Given the description of an element on the screen output the (x, y) to click on. 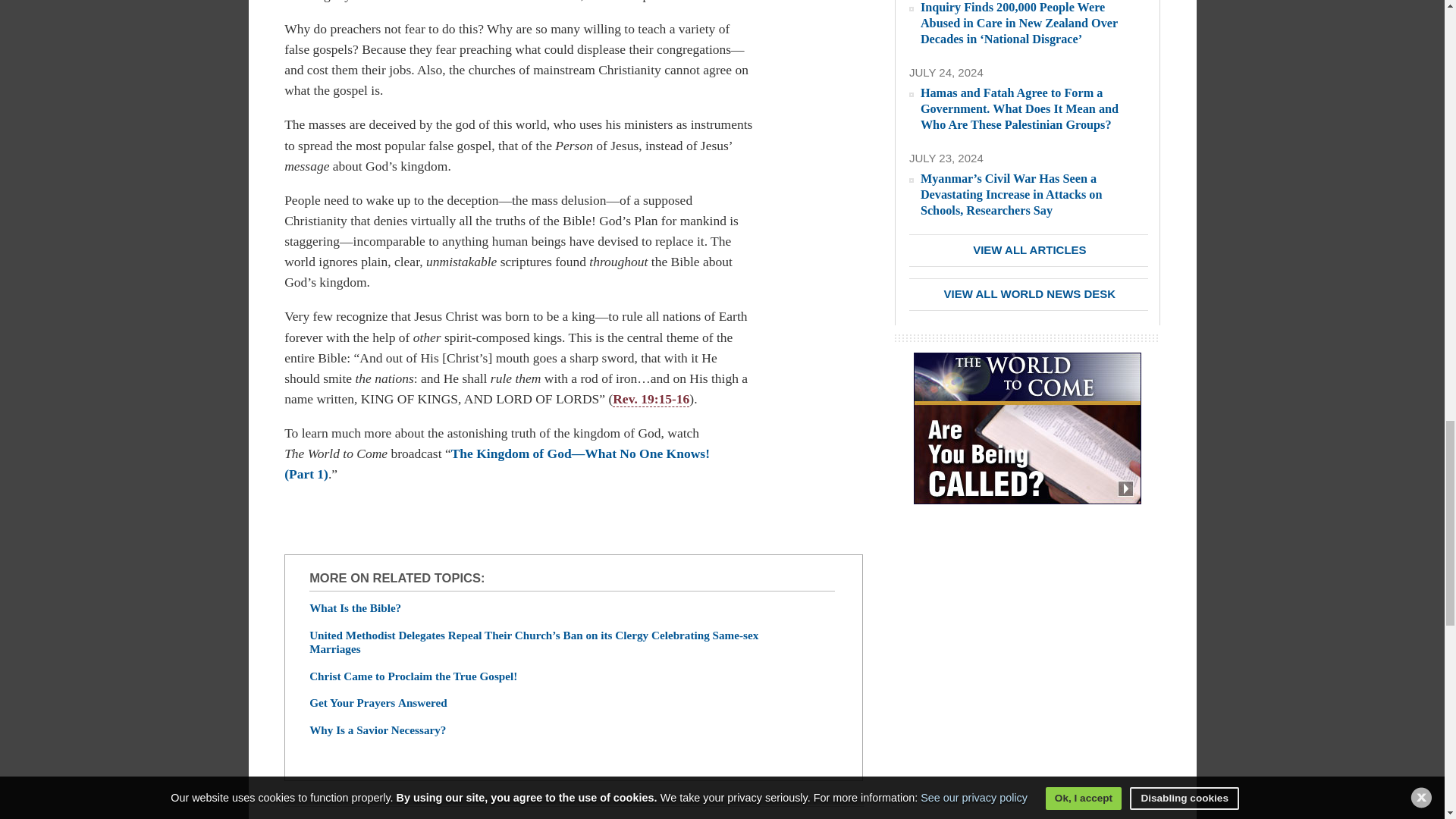
Are You Being Called? (1027, 436)
View scripture (650, 399)
Rev. 19:15-16 (650, 399)
